Given the description of an element on the screen output the (x, y) to click on. 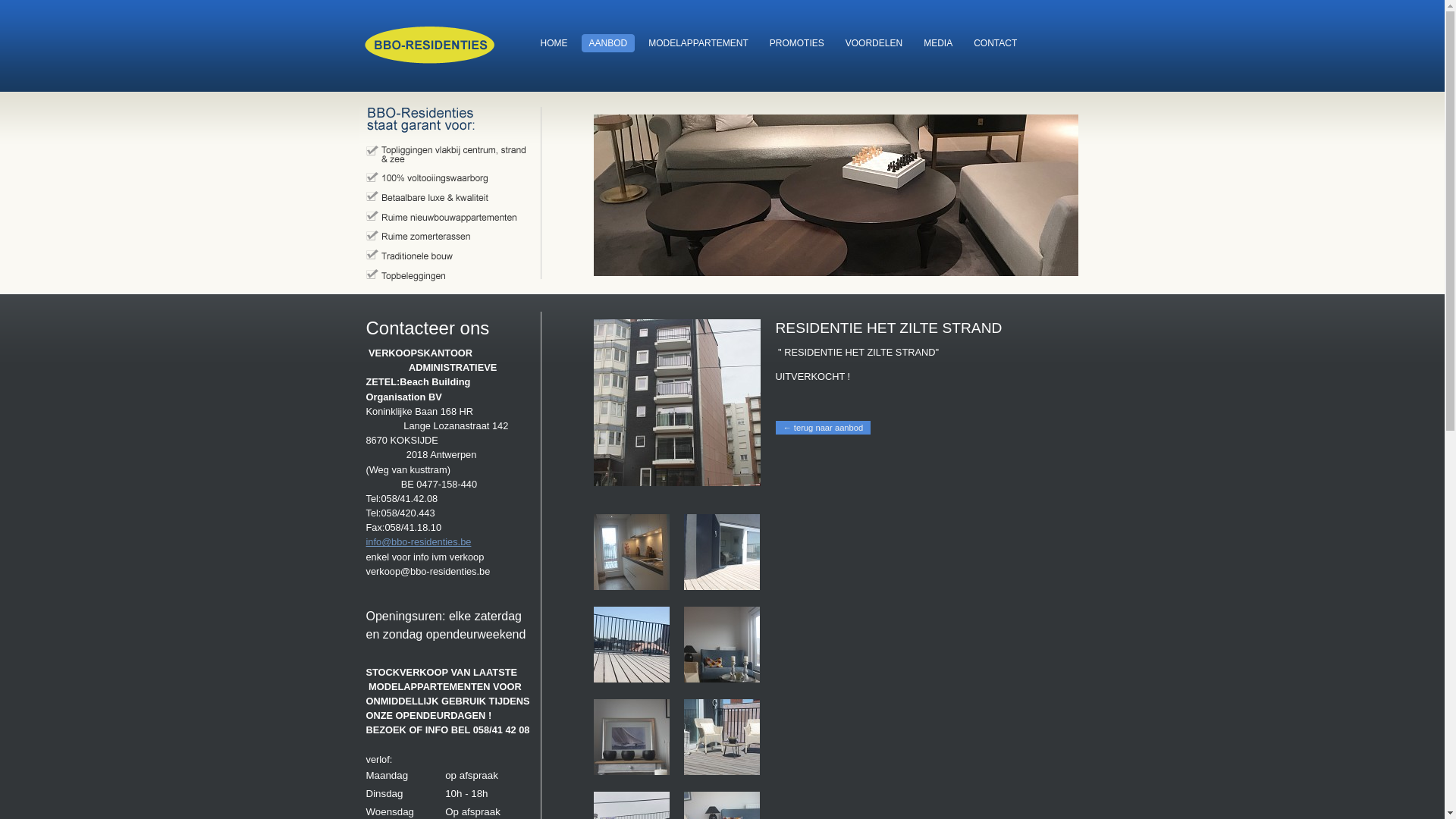
PROMOTIES Element type: text (796, 43)
VOORDELEN Element type: text (873, 43)
MEDIA Element type: text (938, 43)
AANBOD Element type: text (607, 43)
HOME Element type: text (553, 43)
MODELAPPARTEMENT Element type: text (698, 43)
info@bbo-residenties.be Element type: text (417, 541)
CONTACT Element type: text (995, 43)
